Given the description of an element on the screen output the (x, y) to click on. 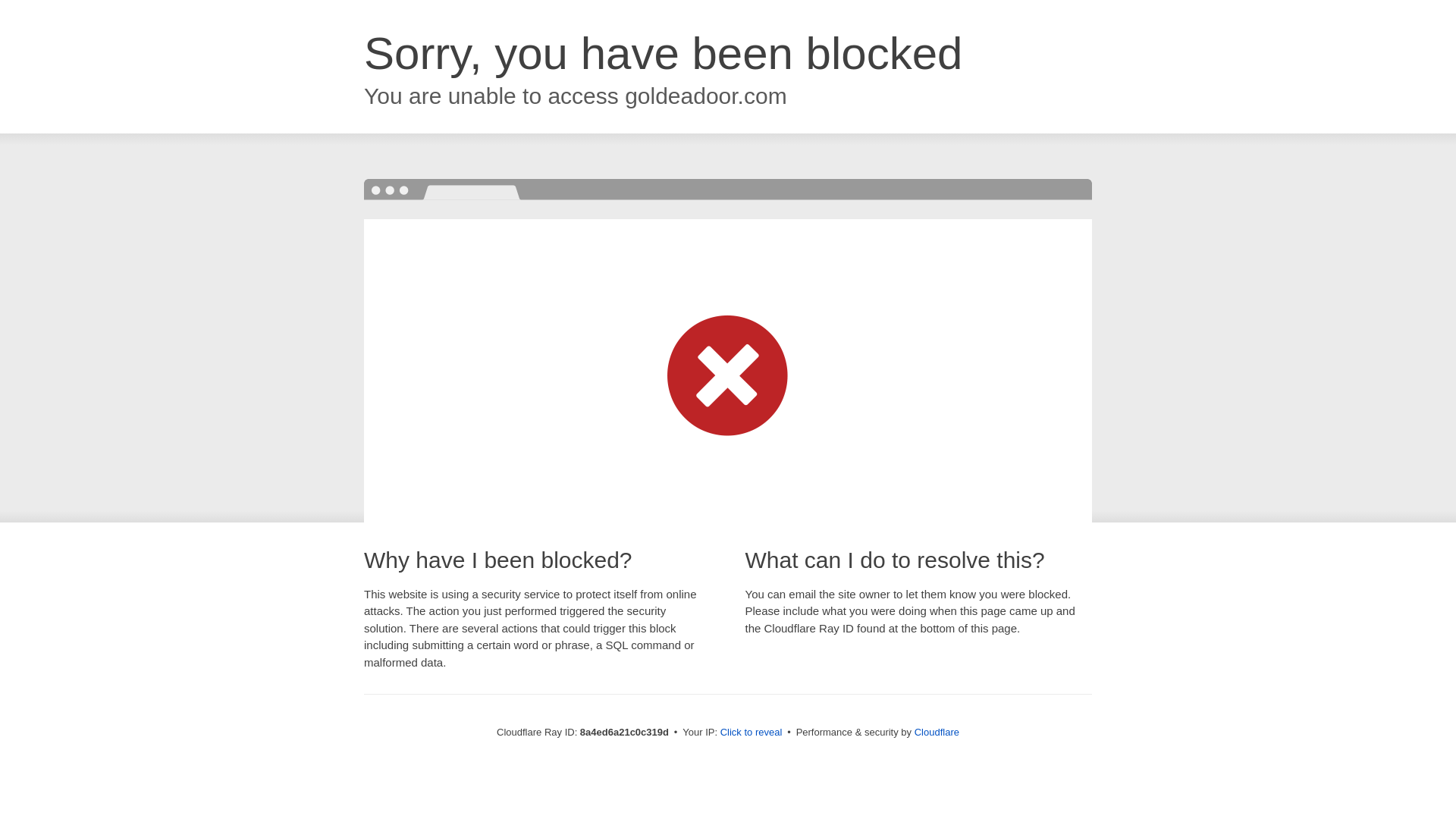
Cloudflare (936, 731)
Click to reveal (751, 732)
